Given the description of an element on the screen output the (x, y) to click on. 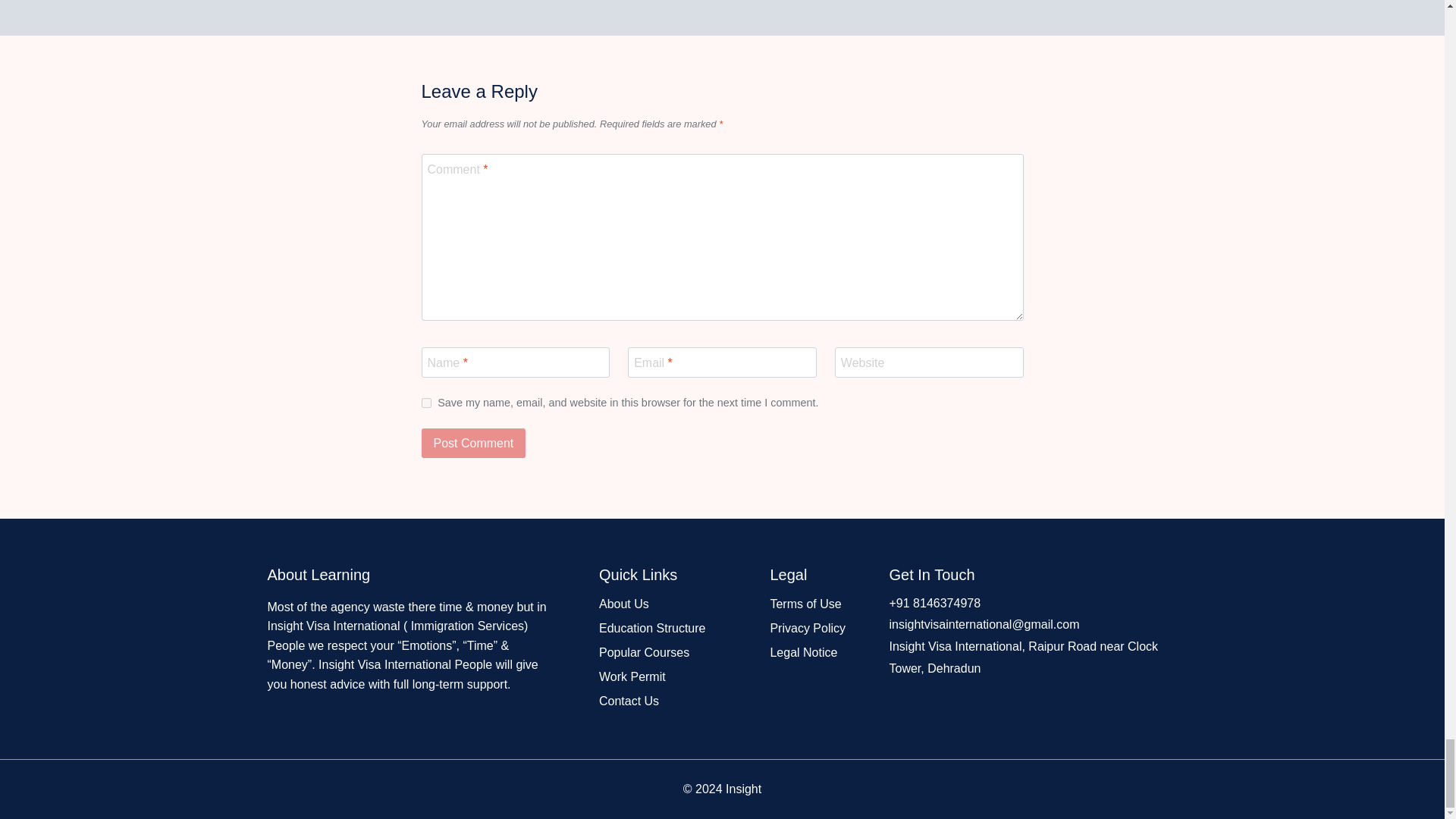
yes (426, 402)
Post Comment (473, 442)
